Given the description of an element on the screen output the (x, y) to click on. 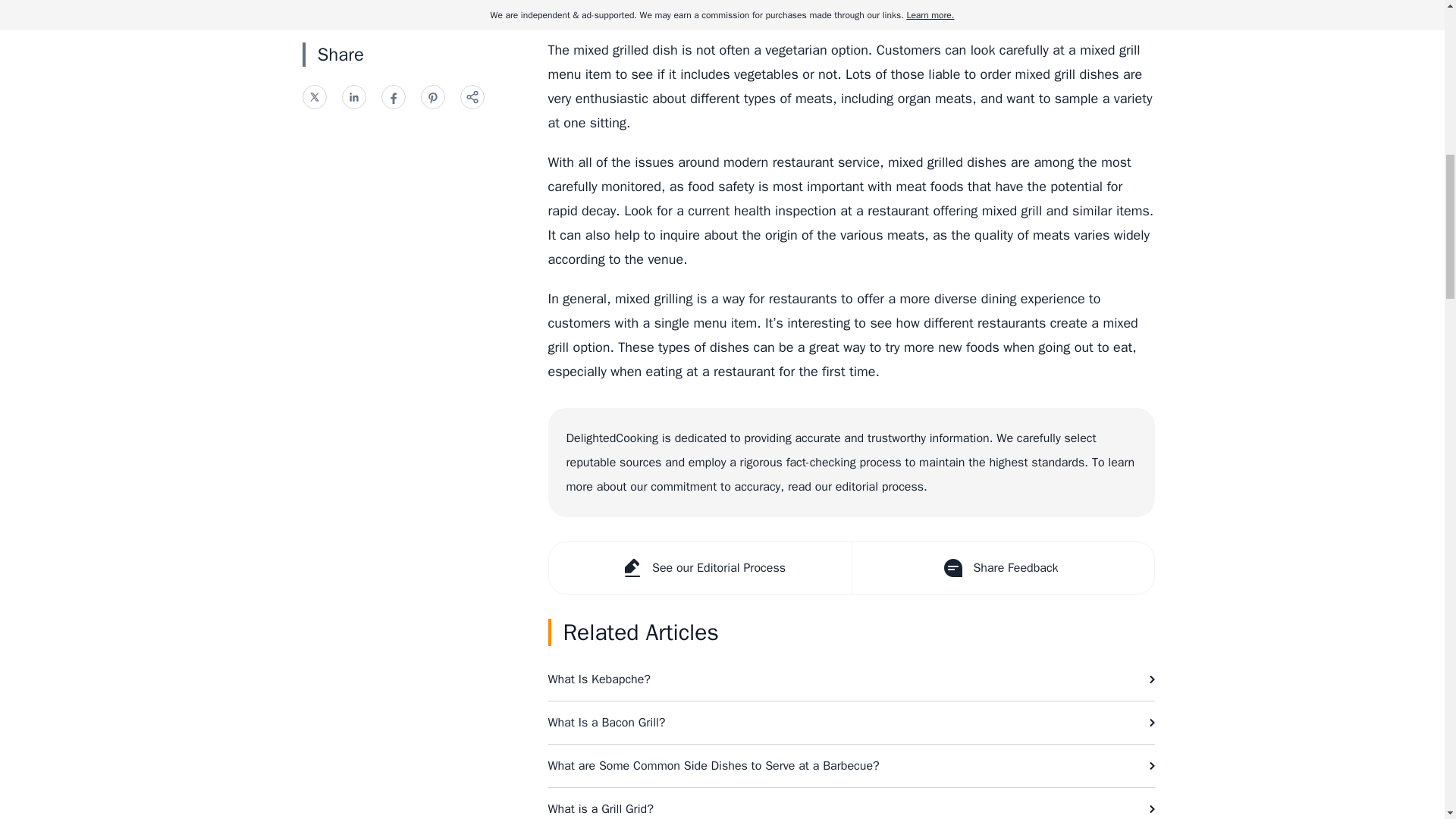
What Is Kebapche? (850, 679)
What is a Grill Grid? (850, 803)
Share Feedback (1001, 567)
What are Some Common Side Dishes to Serve at a Barbecue? (850, 765)
What Is a Bacon Grill? (850, 722)
See our Editorial Process (699, 567)
